Given the description of an element on the screen output the (x, y) to click on. 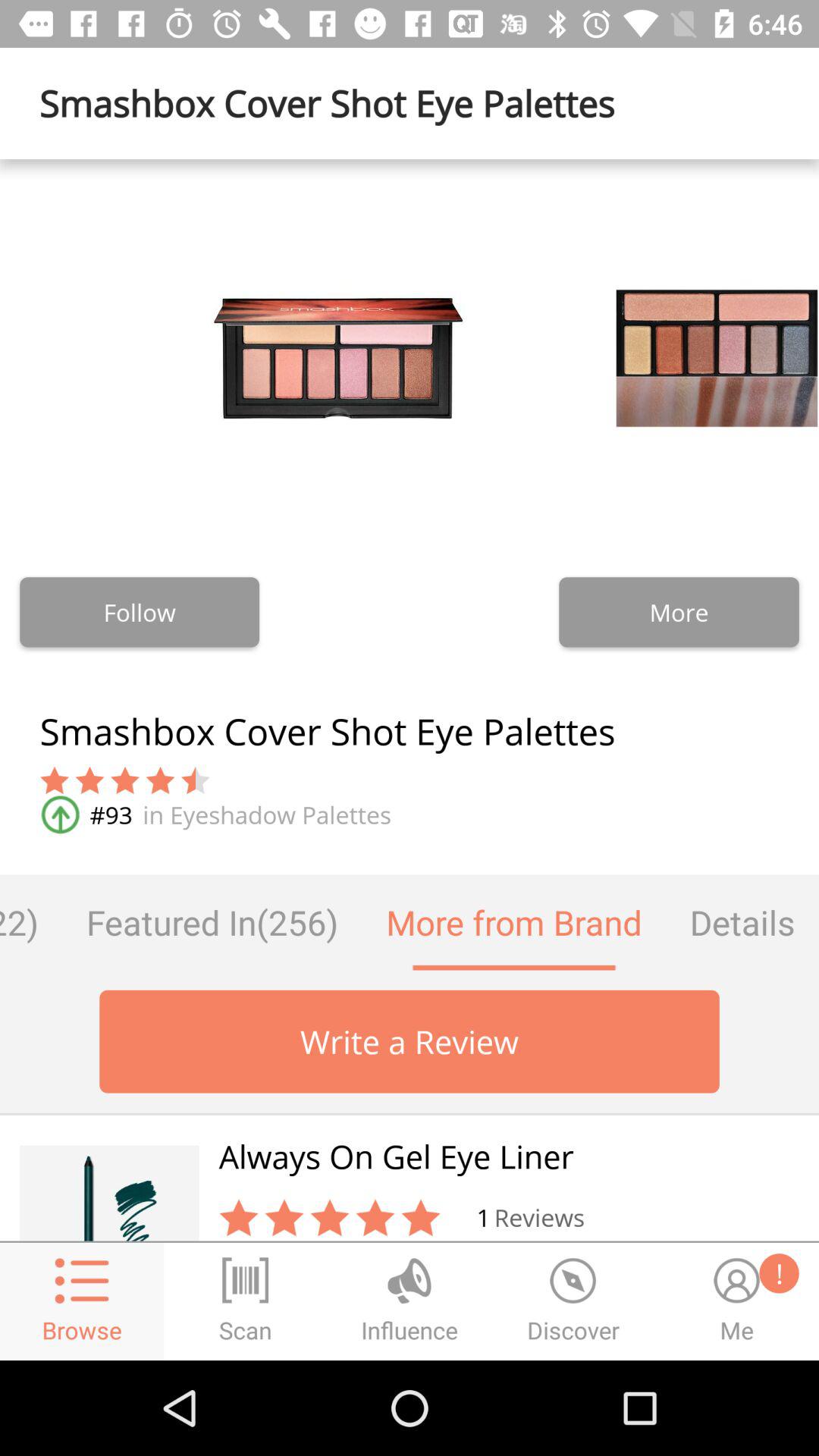
turn on the write a review (409, 1041)
